Given the description of an element on the screen output the (x, y) to click on. 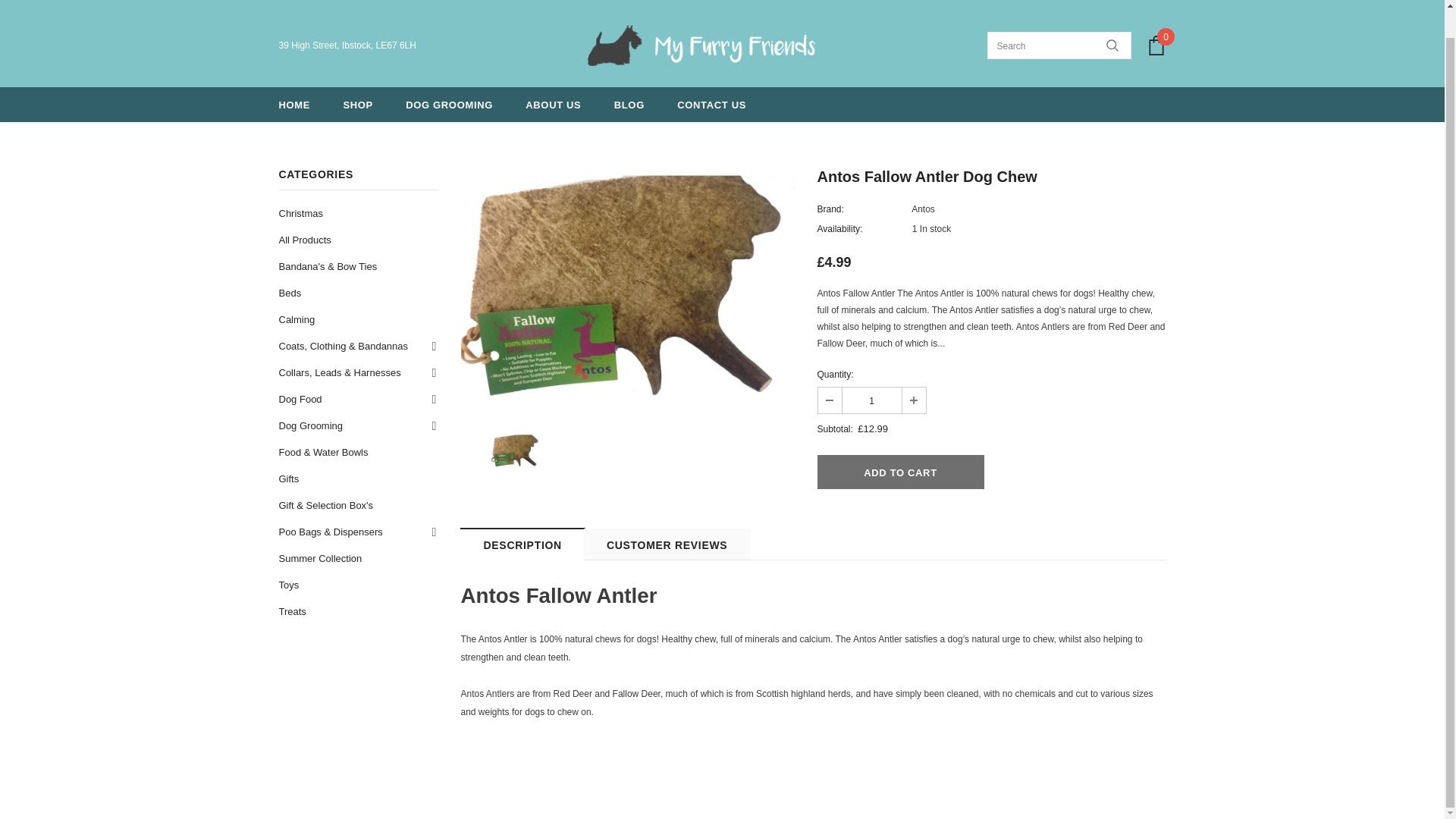
Antos (922, 208)
0 (1156, 45)
Christmas (301, 212)
HOME (295, 103)
Dog Food (300, 398)
Add to cart (900, 471)
Calming (297, 319)
DOG GROOMING (449, 103)
All Products (305, 239)
CONTACT US (711, 103)
